Given the description of an element on the screen output the (x, y) to click on. 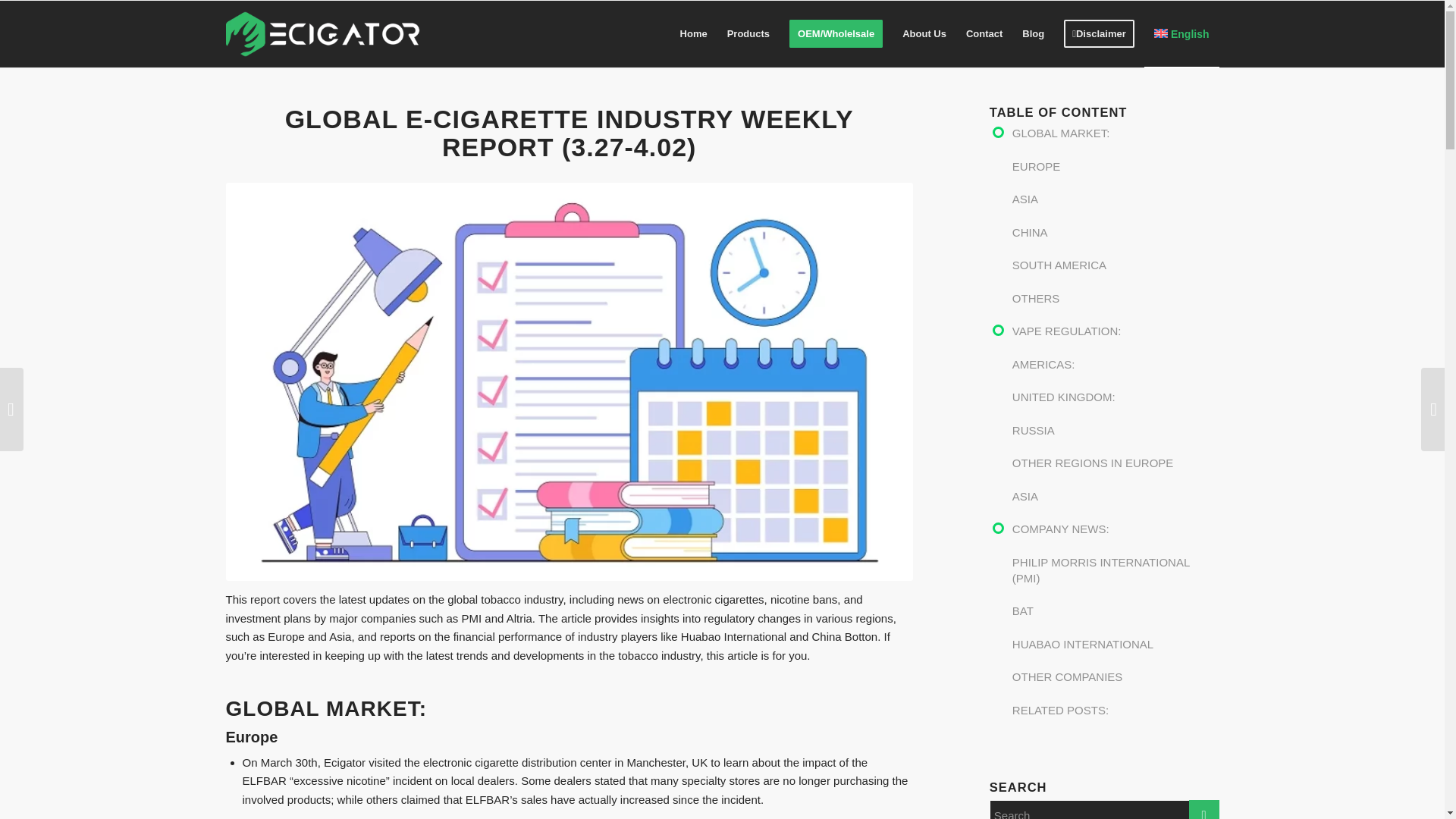
About Us (924, 33)
VAPE REGULATION: (1115, 339)
CHINA (1115, 240)
GLOBAL MARKET: (1115, 141)
English (1182, 33)
OTHERS (1115, 306)
English (1182, 33)
Products (747, 33)
ecigator logo white (322, 33)
EUROPE (1115, 174)
ASIA (1115, 207)
SOUTH AMERICA (1115, 273)
